Given the description of an element on the screen output the (x, y) to click on. 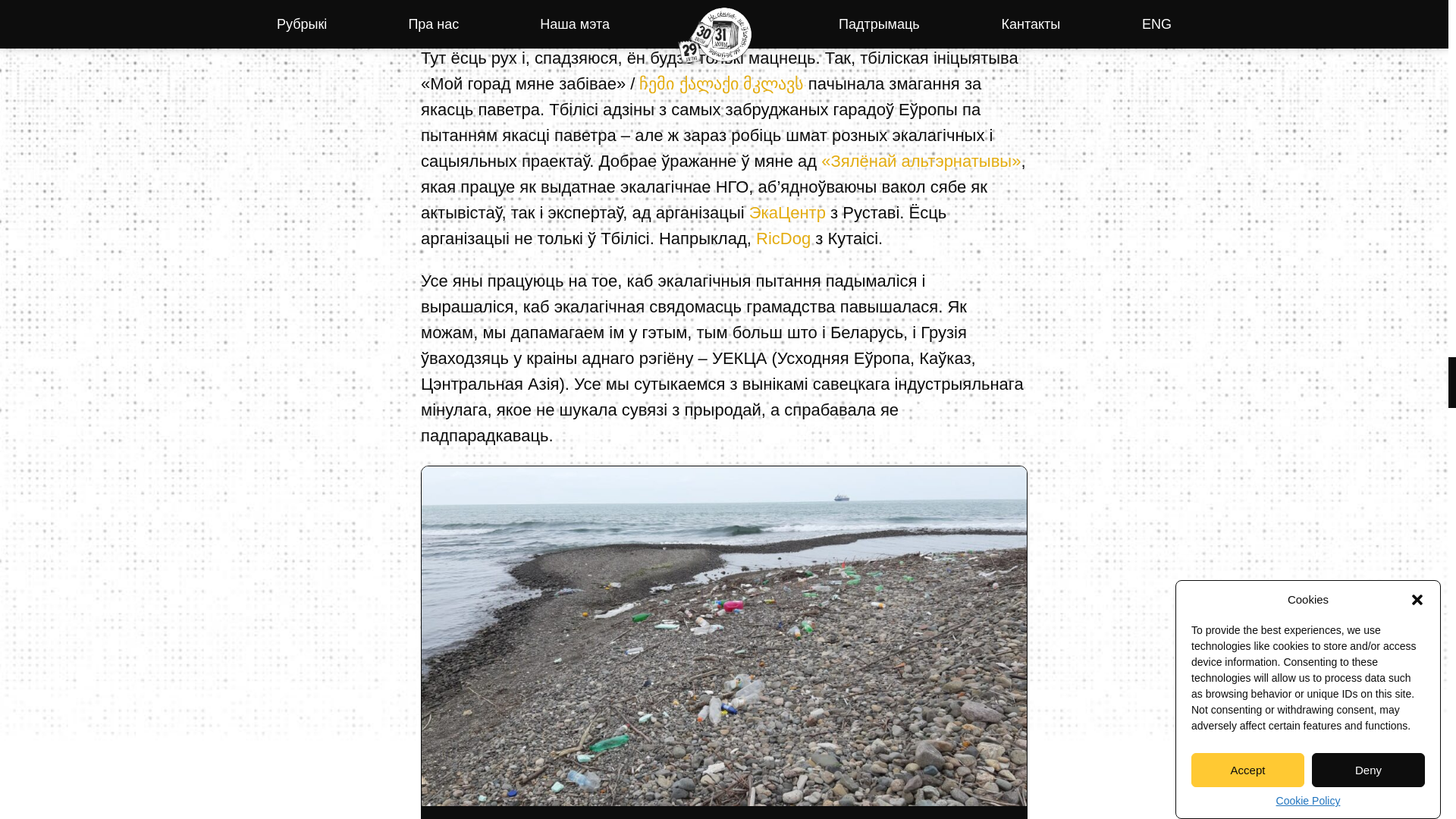
RicDog (782, 238)
